Given the description of an element on the screen output the (x, y) to click on. 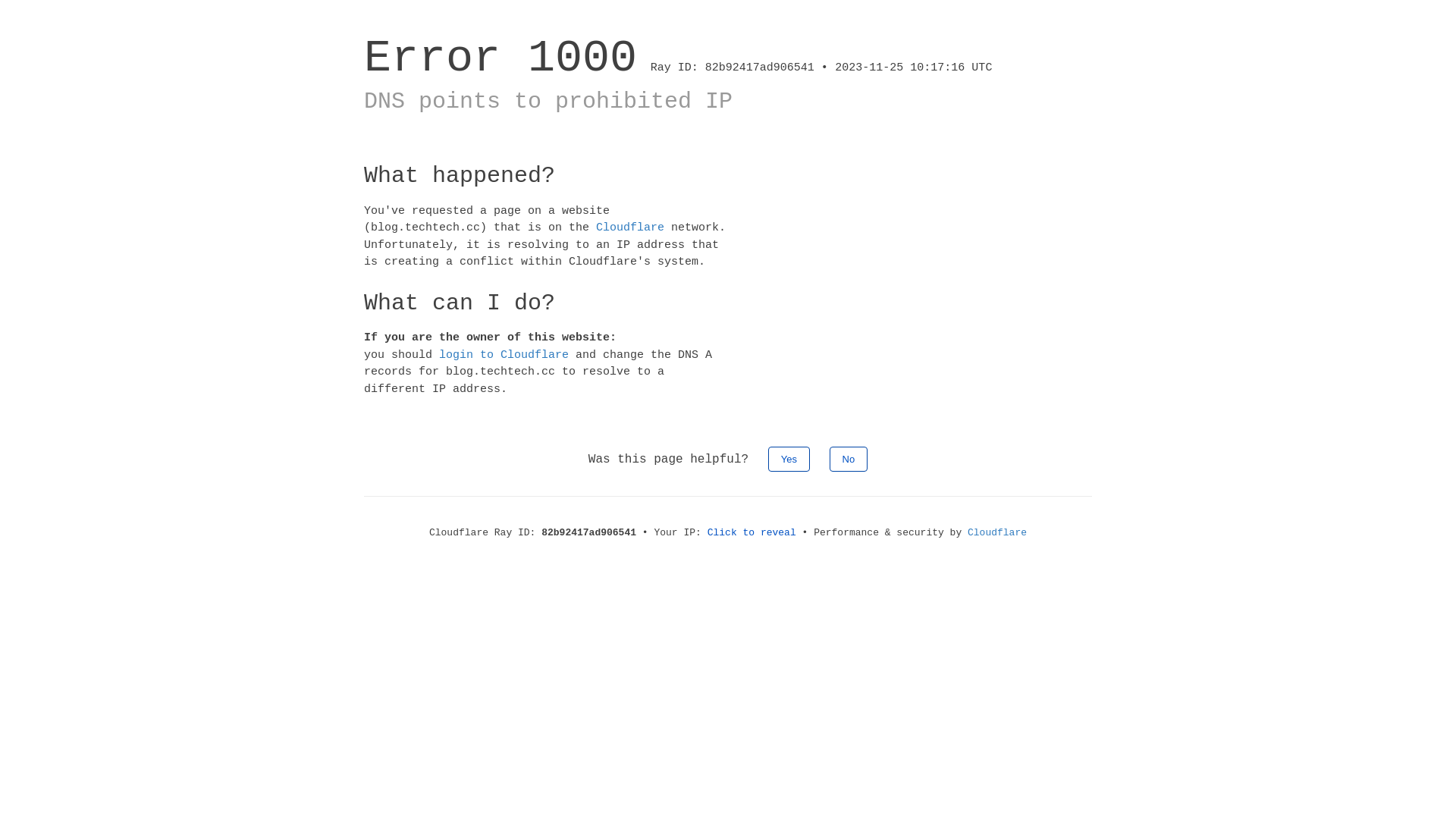
login to Cloudflare Element type: text (503, 354)
Cloudflare Element type: text (996, 532)
Cloudflare Element type: text (630, 227)
Yes Element type: text (788, 458)
No Element type: text (848, 458)
Click to reveal Element type: text (751, 532)
